Given the description of an element on the screen output the (x, y) to click on. 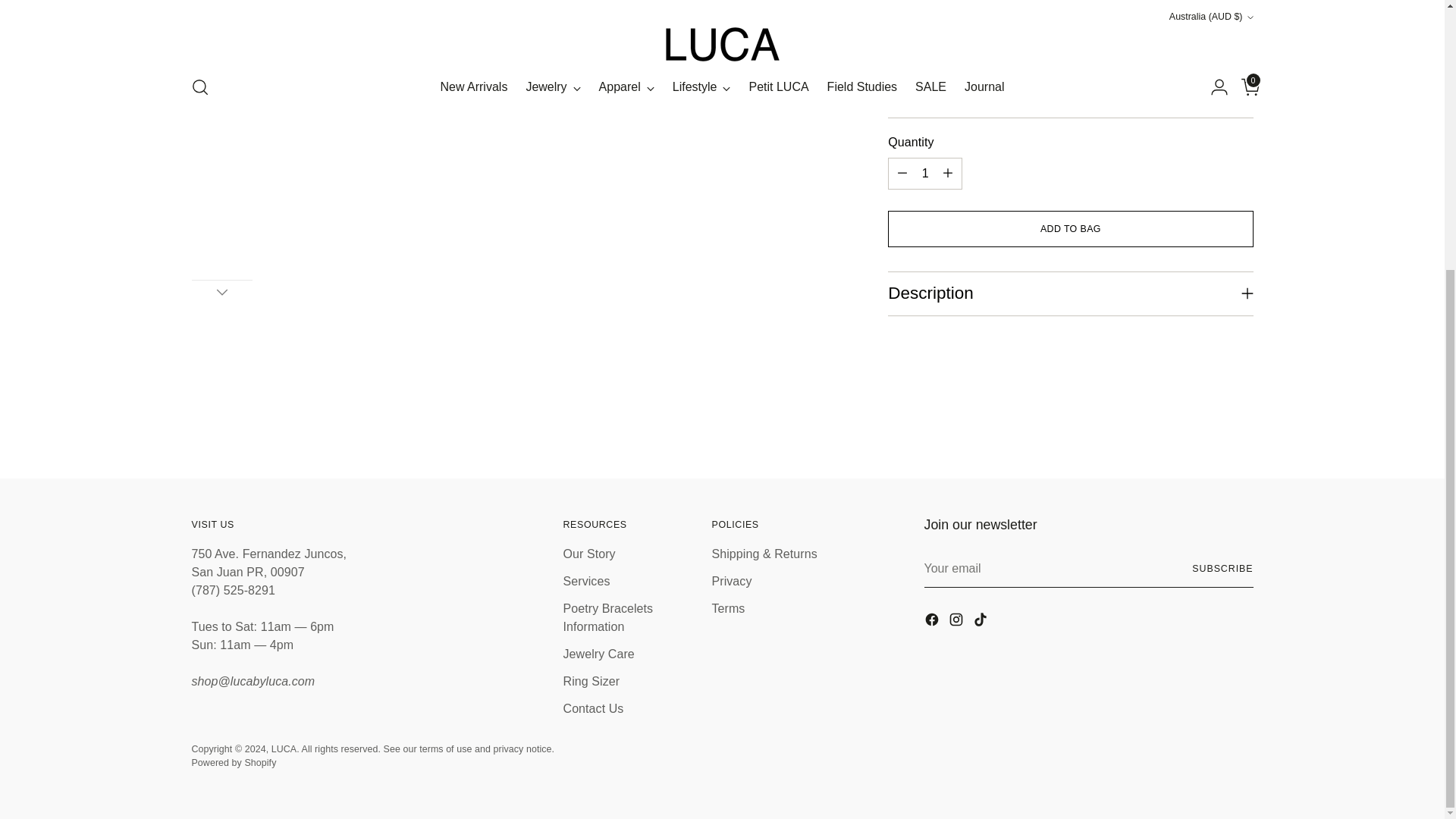
LUCA on Facebook (932, 621)
LUCA on Instagram (956, 621)
Down (220, 291)
LUCA on Tiktok (981, 621)
